Given the description of an element on the screen output the (x, y) to click on. 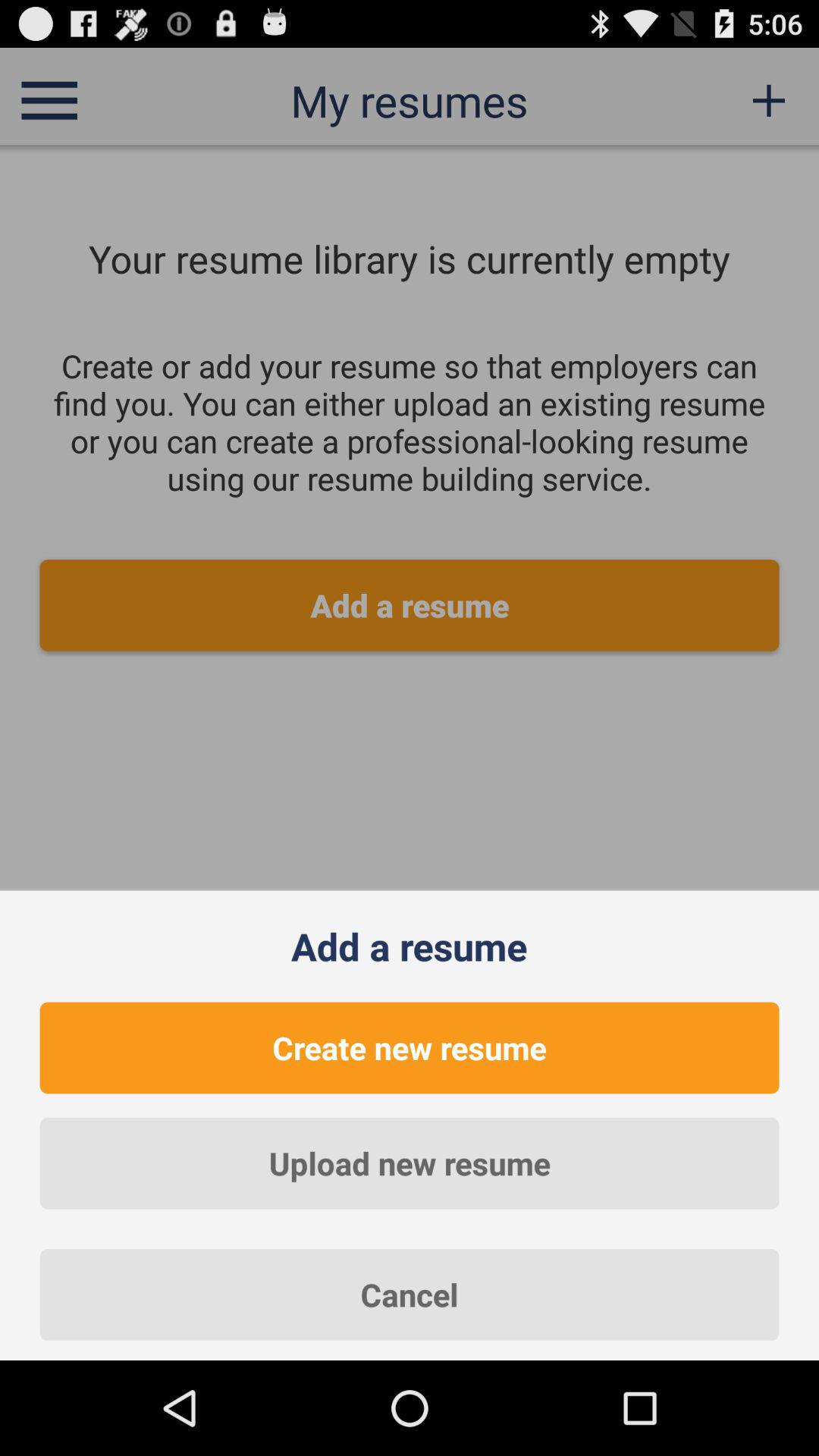
launch the cancel button (409, 1294)
